Given the description of an element on the screen output the (x, y) to click on. 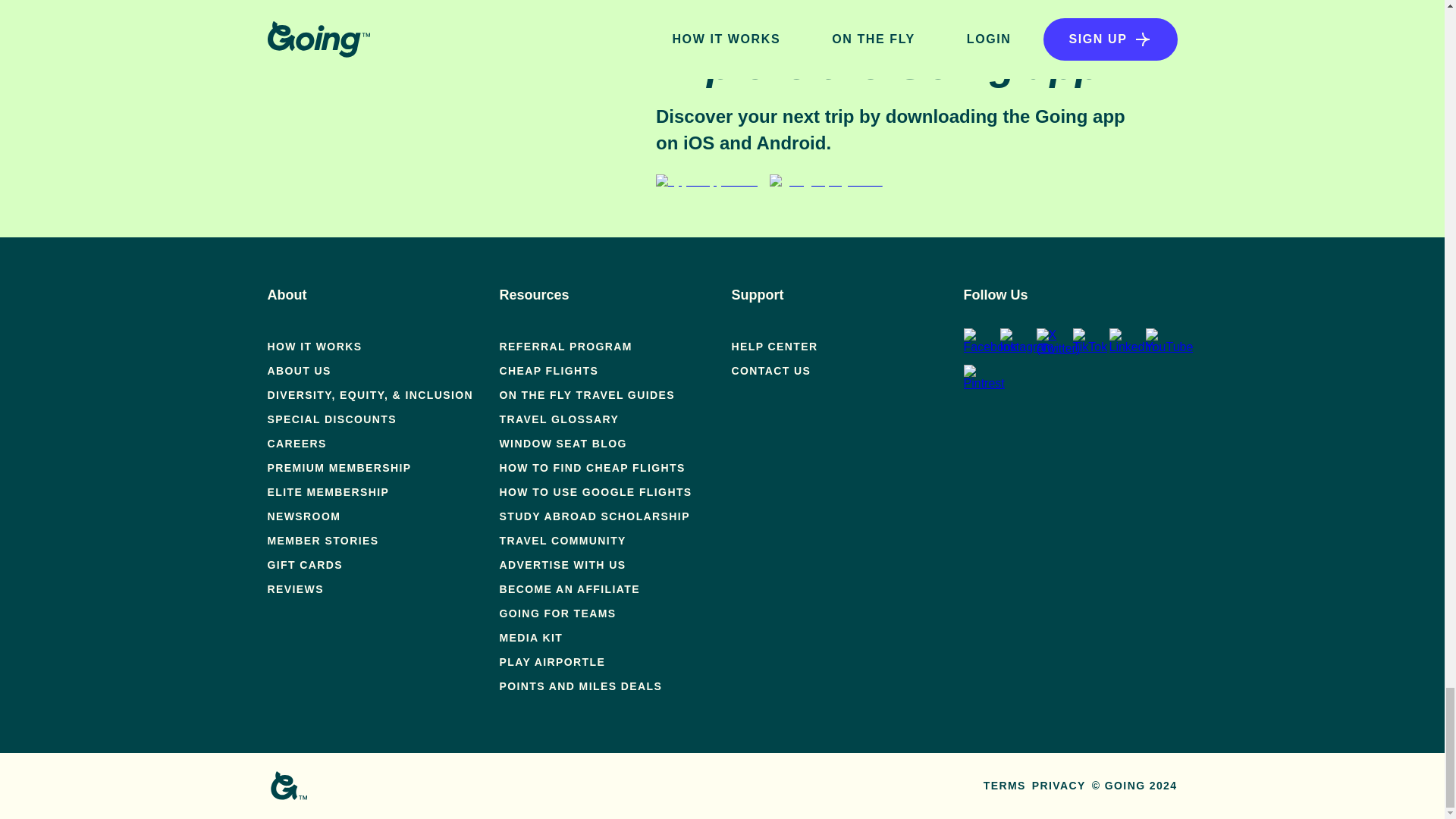
PREMIUM MEMBERSHIP (338, 467)
TRAVEL GLOSSARY (558, 419)
ON THE FLY TRAVEL GUIDES (586, 395)
HOW IT WORKS (313, 346)
CAREERS (296, 443)
ELITE MEMBERSHIP (327, 491)
MEMBER STORIES (322, 540)
GIFT CARDS (304, 564)
CHEAP FLIGHTS (548, 370)
ABOUT US (298, 370)
SPECIAL DISCOUNTS (331, 419)
REFERRAL PROGRAM (565, 346)
REVIEWS (294, 589)
NEWSROOM (303, 516)
